Given the description of an element on the screen output the (x, y) to click on. 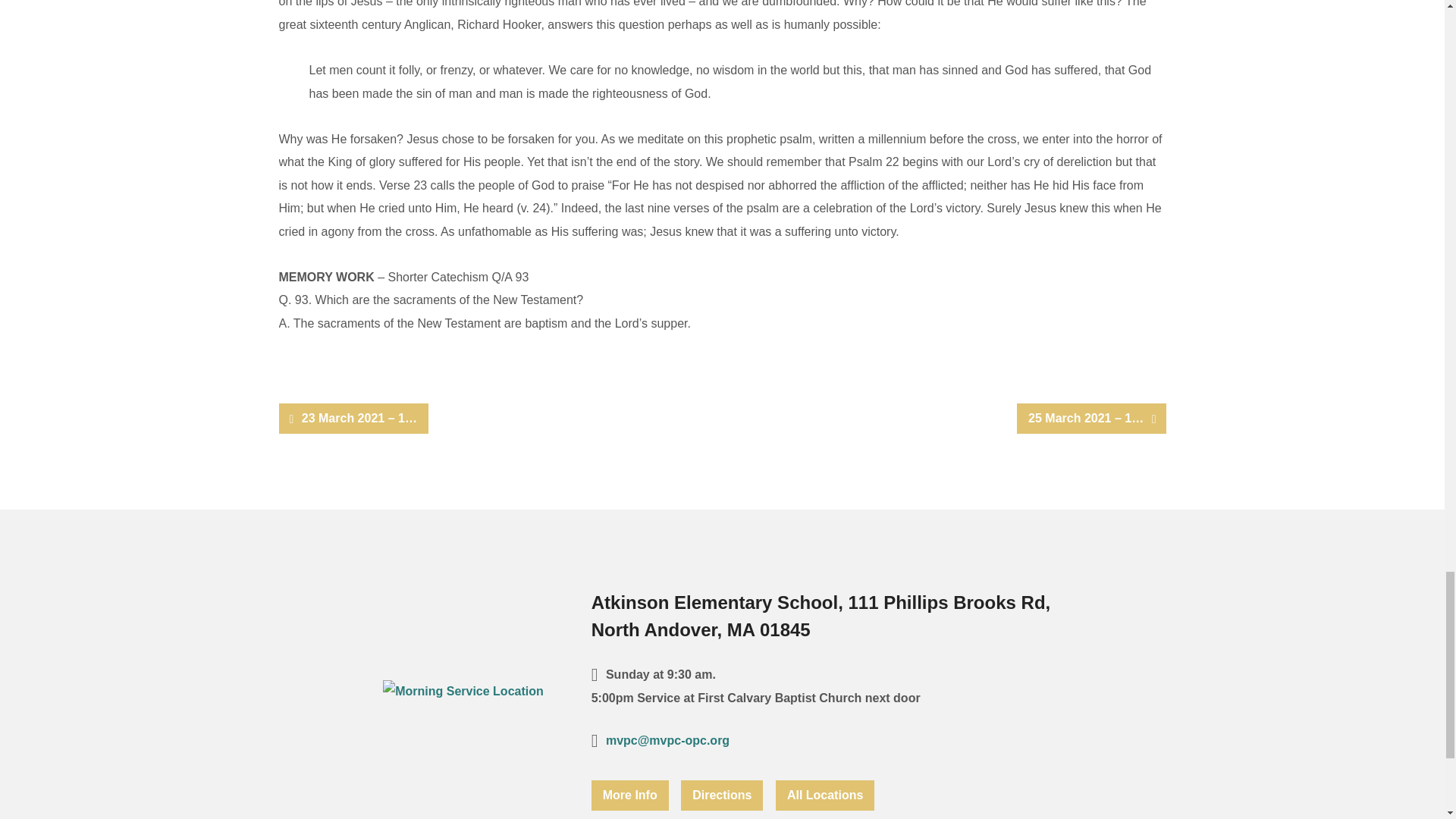
Directions (721, 795)
Morning Service Location (462, 690)
More Info (629, 795)
All Locations (825, 795)
